Given the description of an element on the screen output the (x, y) to click on. 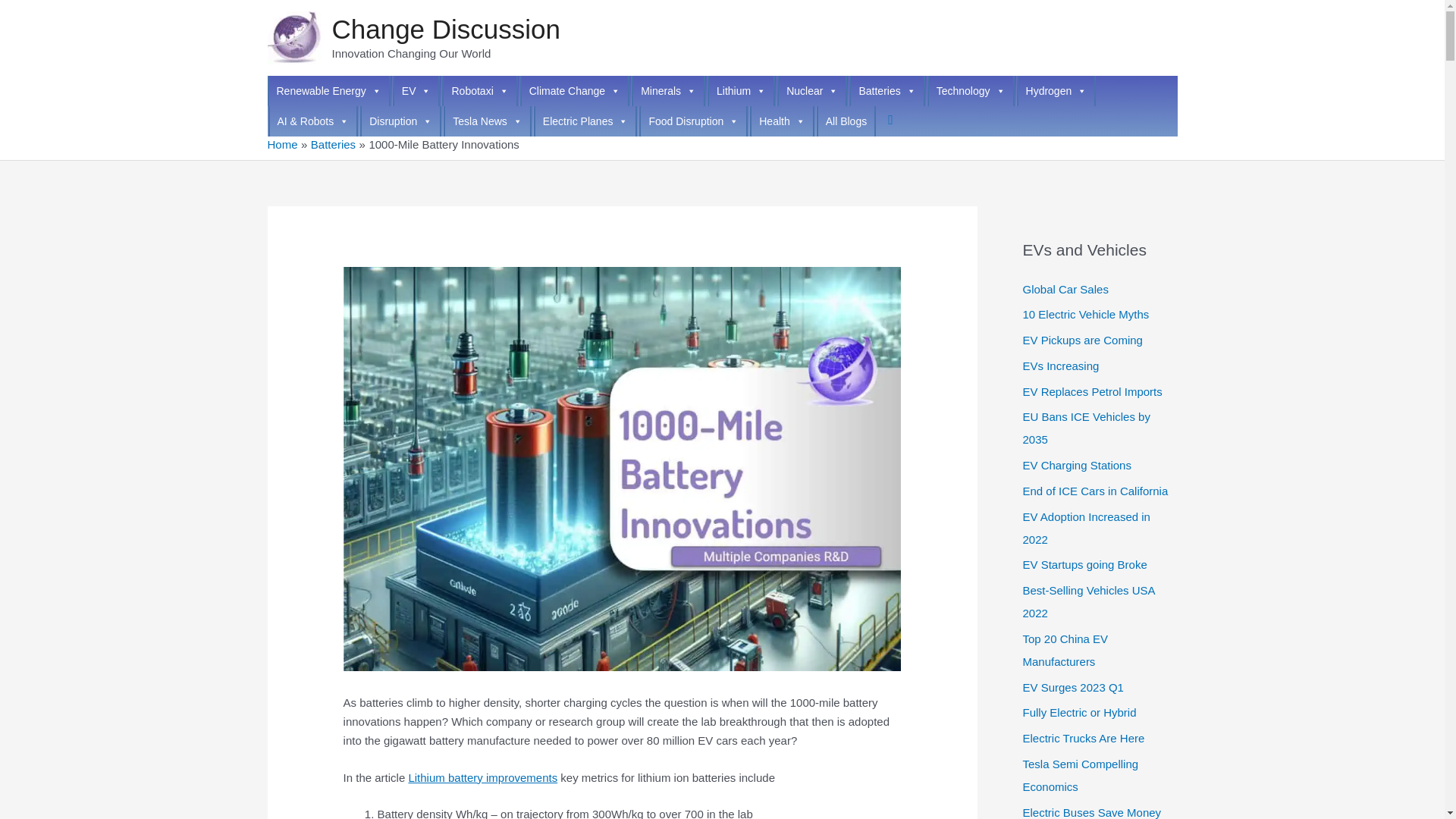
Is Nuclear economic or technically ok (812, 91)
Renewable Energy (328, 91)
Change Discussion (445, 29)
